Given the description of an element on the screen output the (x, y) to click on. 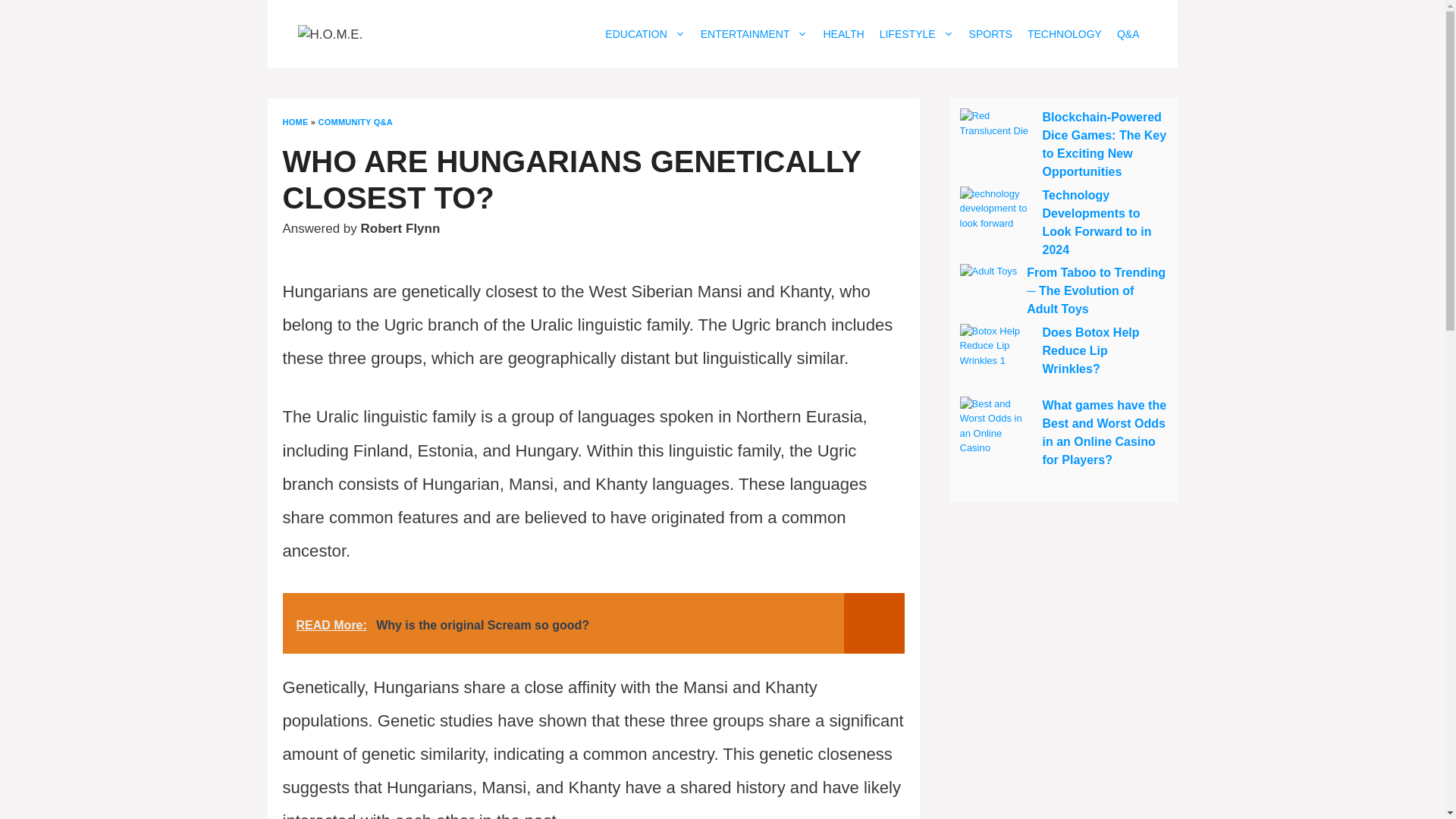
EDUCATION (644, 34)
LIFESTYLE (916, 34)
HEALTH (842, 34)
Does Botox Help Reduce Lip Wrinkles? 4 (995, 358)
SPORTS (990, 34)
Technology Developments to Look Forward to in 2024 2 (995, 222)
TECHNOLOGY (1064, 34)
ENTERTAINMENT (754, 34)
